Given the description of an element on the screen output the (x, y) to click on. 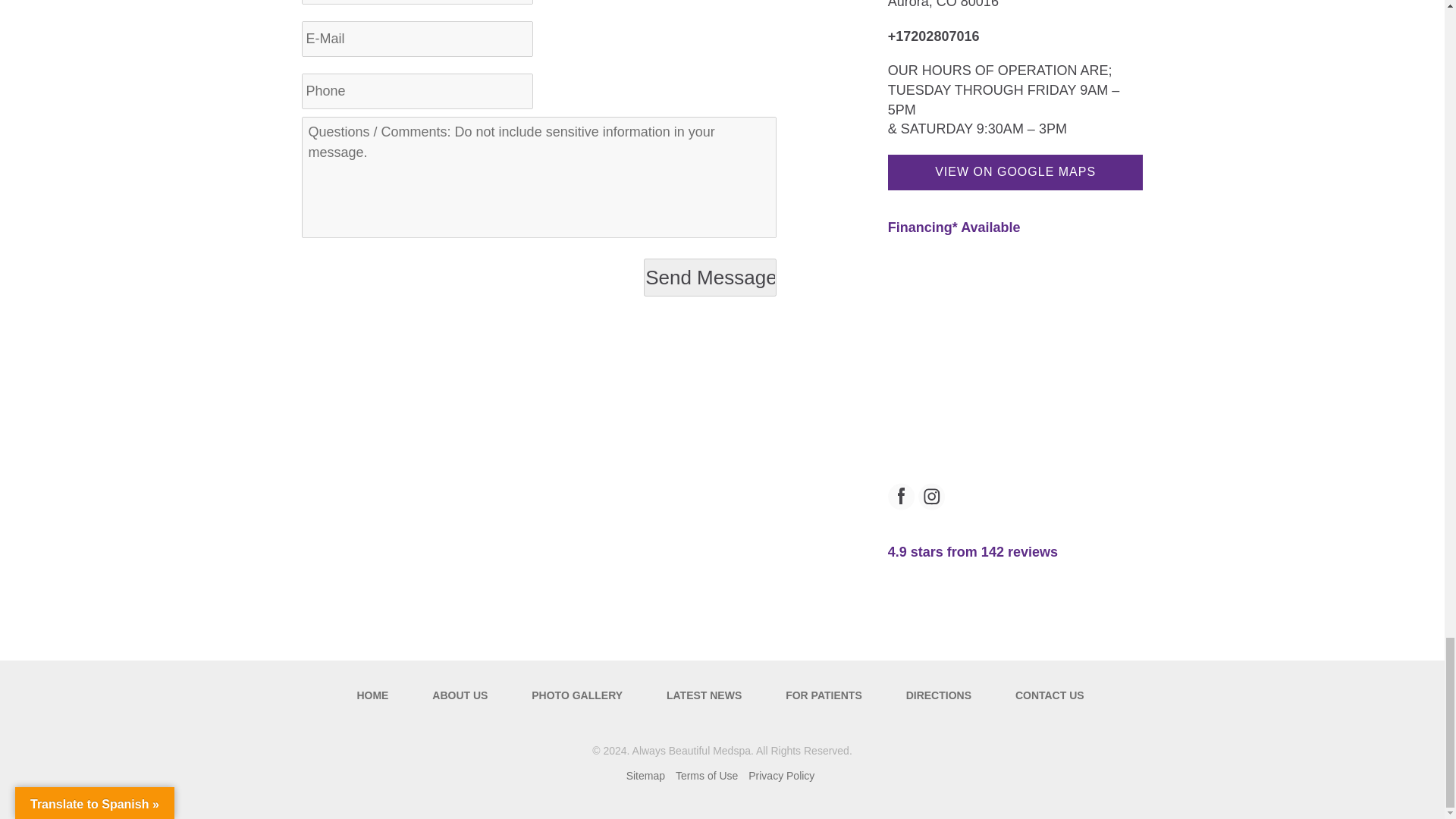
CareCredit (954, 227)
4.9 out of 5 stars (973, 551)
Send Message (709, 277)
